Given the description of an element on the screen output the (x, y) to click on. 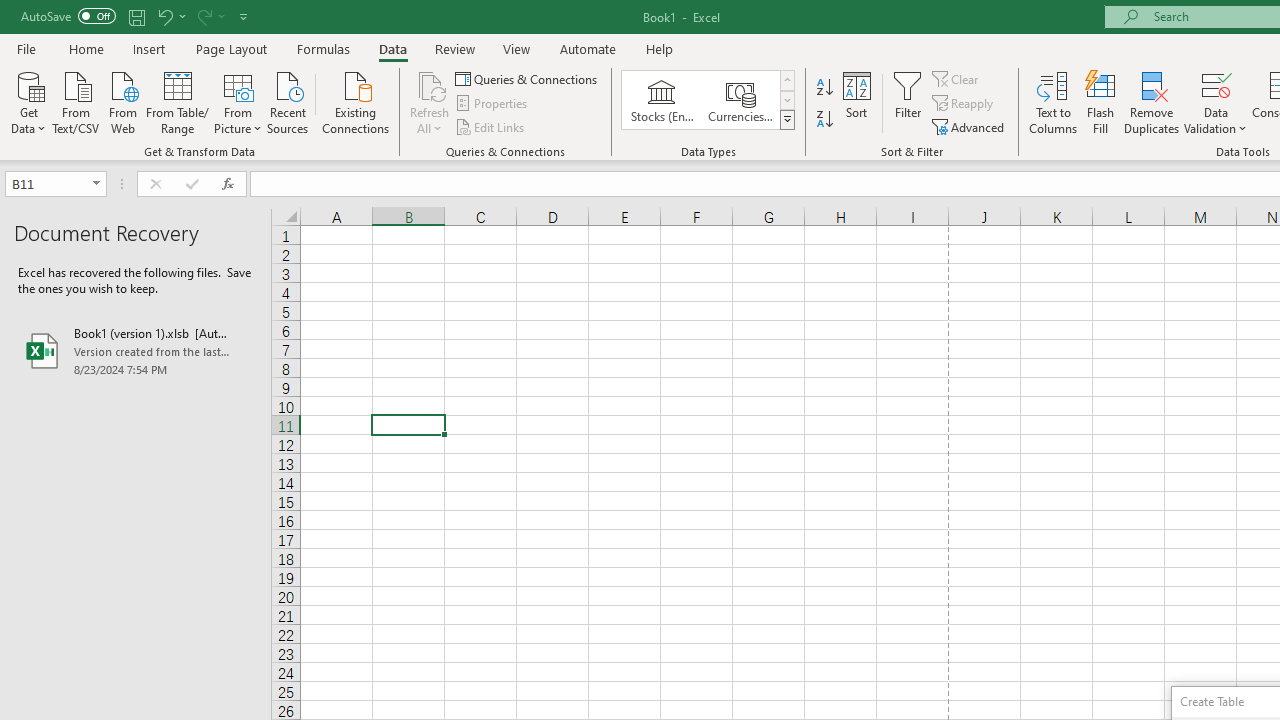
Book1 (version 1).xlsb  [AutoRecovered] (136, 350)
Advanced... (970, 126)
Row Down (786, 100)
From Table/Range (177, 101)
Class: NetUIImage (787, 119)
